Given the description of an element on the screen output the (x, y) to click on. 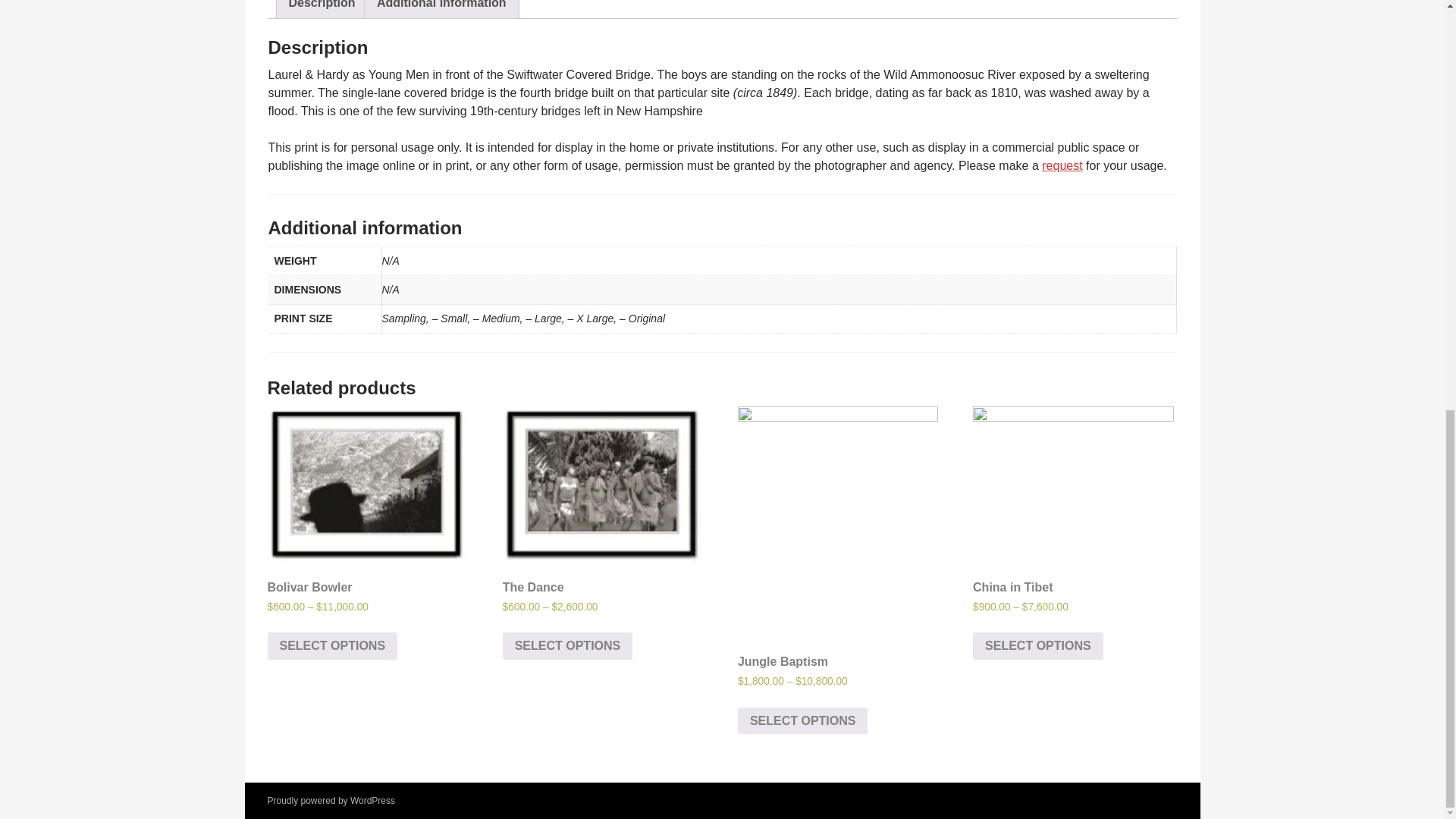
SELECT OPTIONS (802, 720)
SELECT OPTIONS (331, 646)
SELECT OPTIONS (567, 646)
Description (321, 9)
request (1061, 164)
SELECT OPTIONS (1037, 646)
Additional information (441, 9)
